Given the description of an element on the screen output the (x, y) to click on. 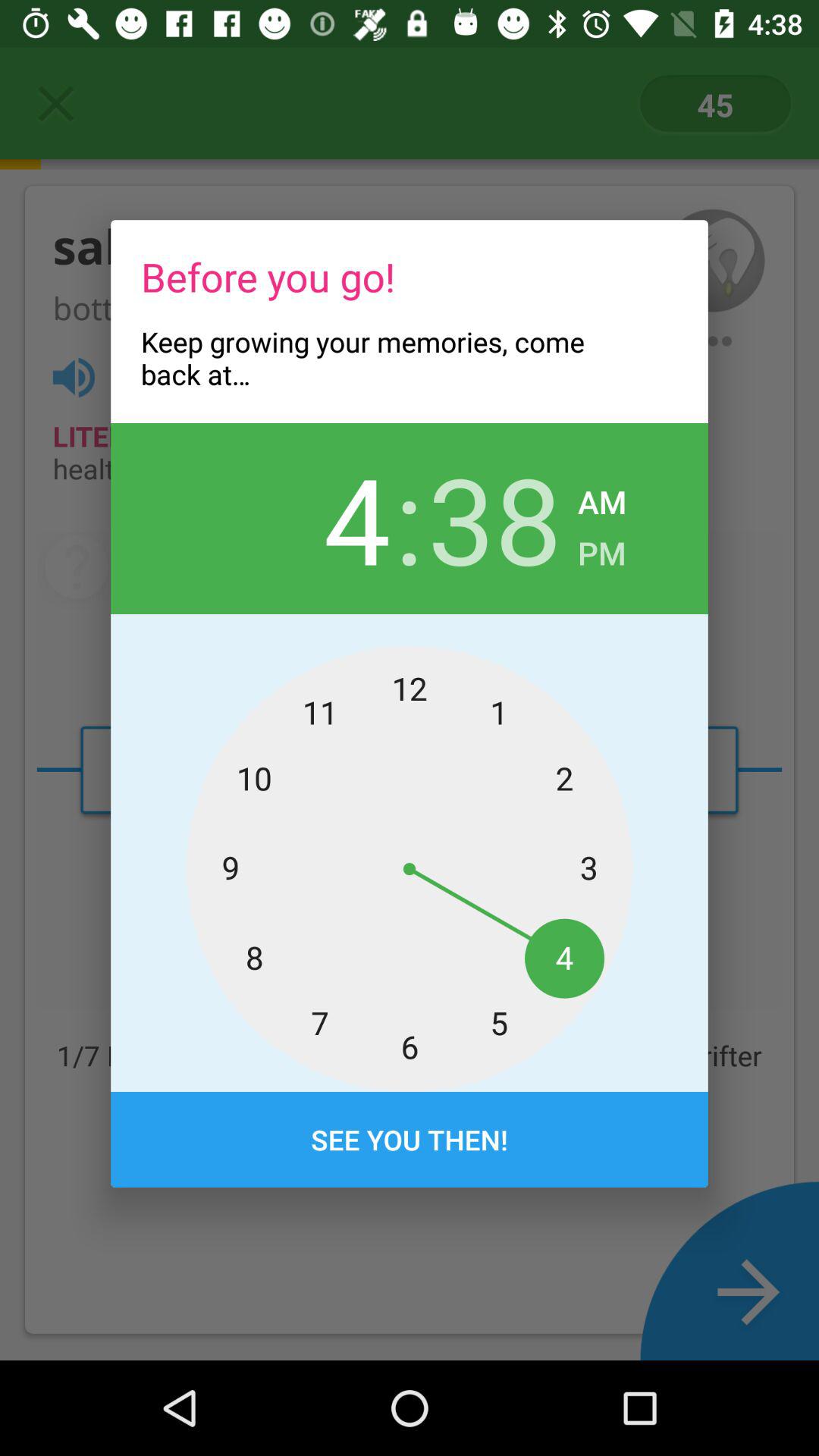
launch the item below the keep growing your item (494, 518)
